Given the description of an element on the screen output the (x, y) to click on. 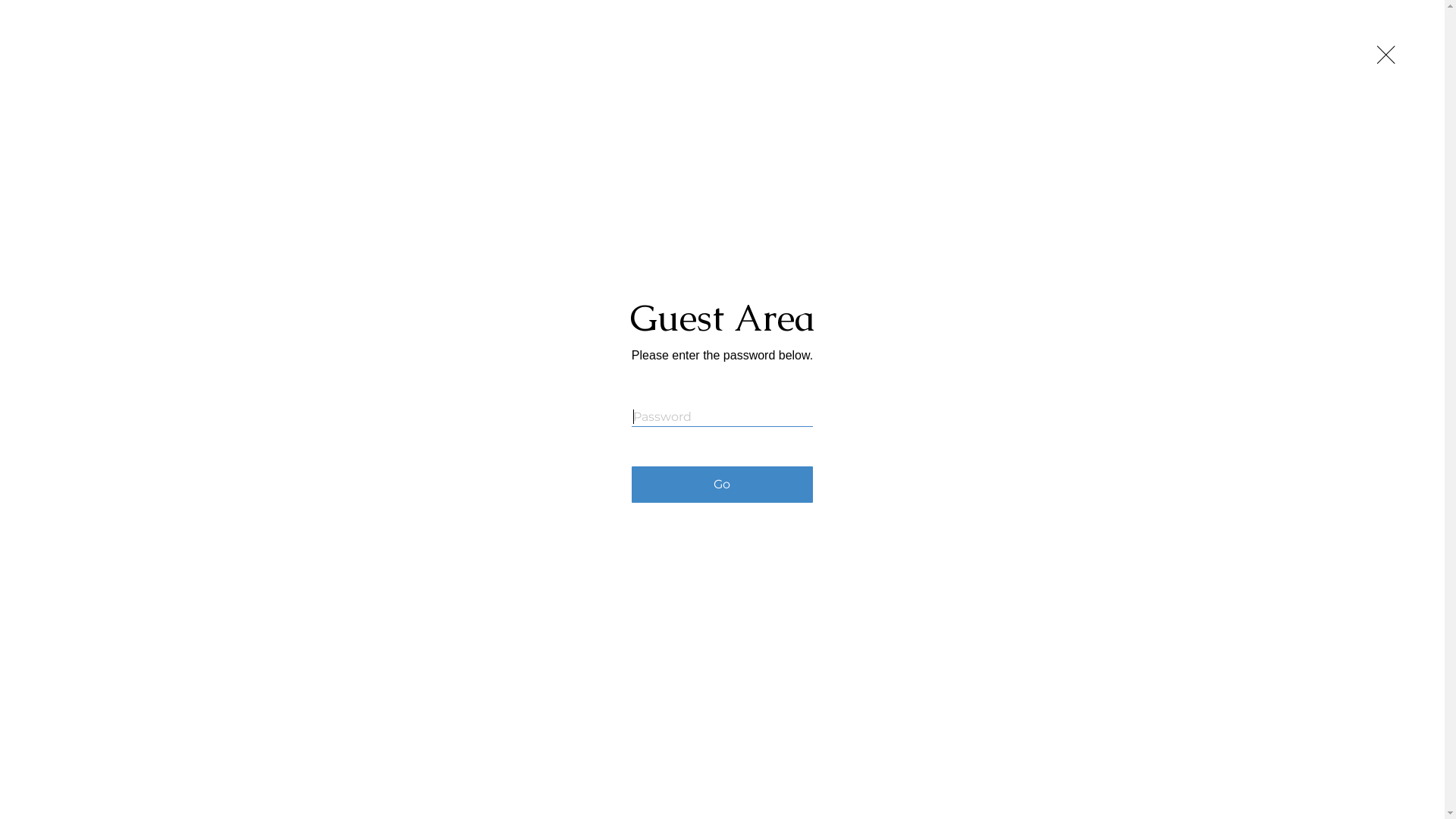
Go Element type: text (721, 484)
